Given the description of an element on the screen output the (x, y) to click on. 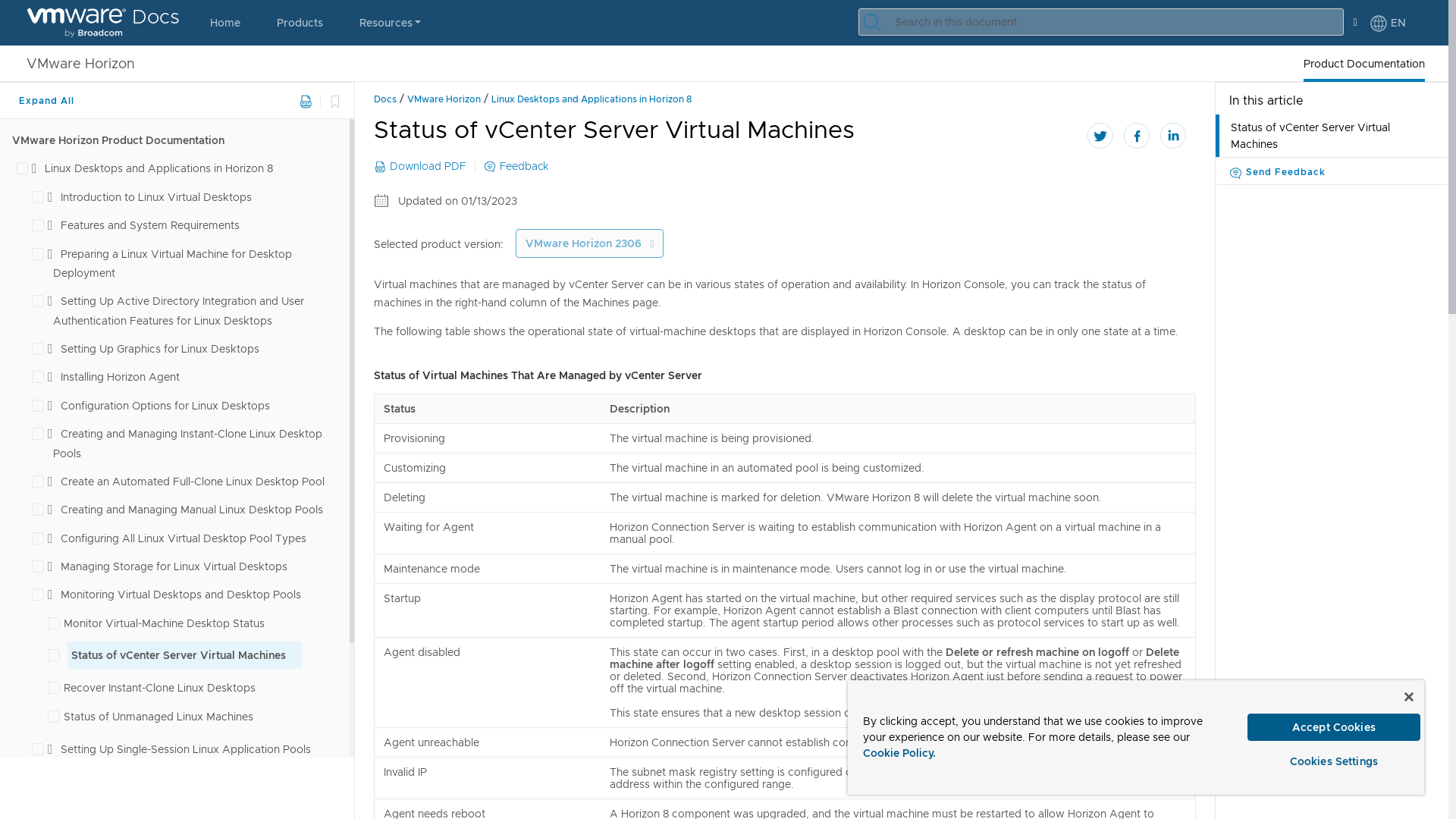
Home (225, 22)
Add selected to MyLibrary (333, 100)
Docs (103, 22)
Download PDF (305, 101)
Products (299, 22)
Resources (389, 22)
